Given the description of an element on the screen output the (x, y) to click on. 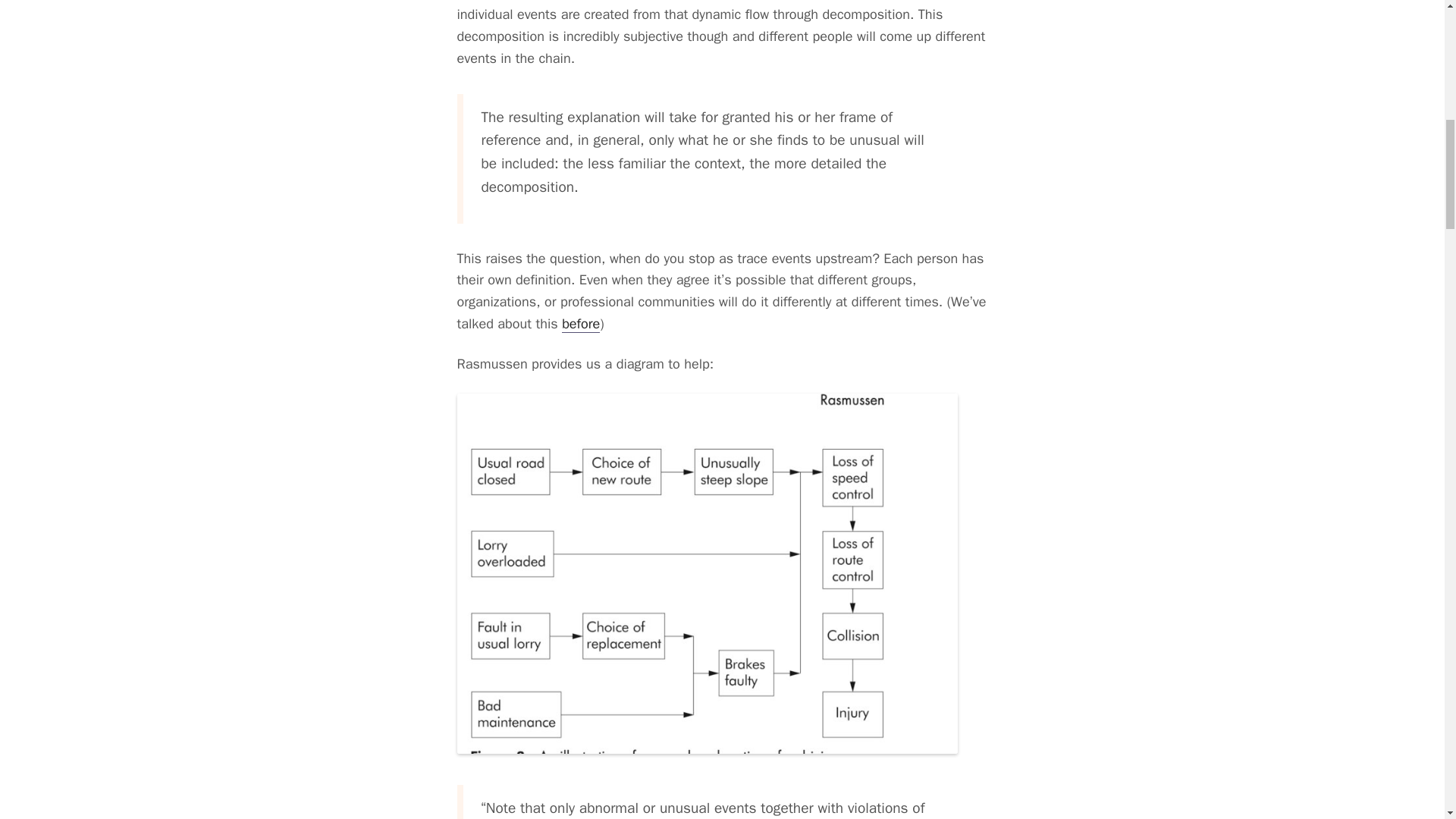
before (580, 323)
